Given the description of an element on the screen output the (x, y) to click on. 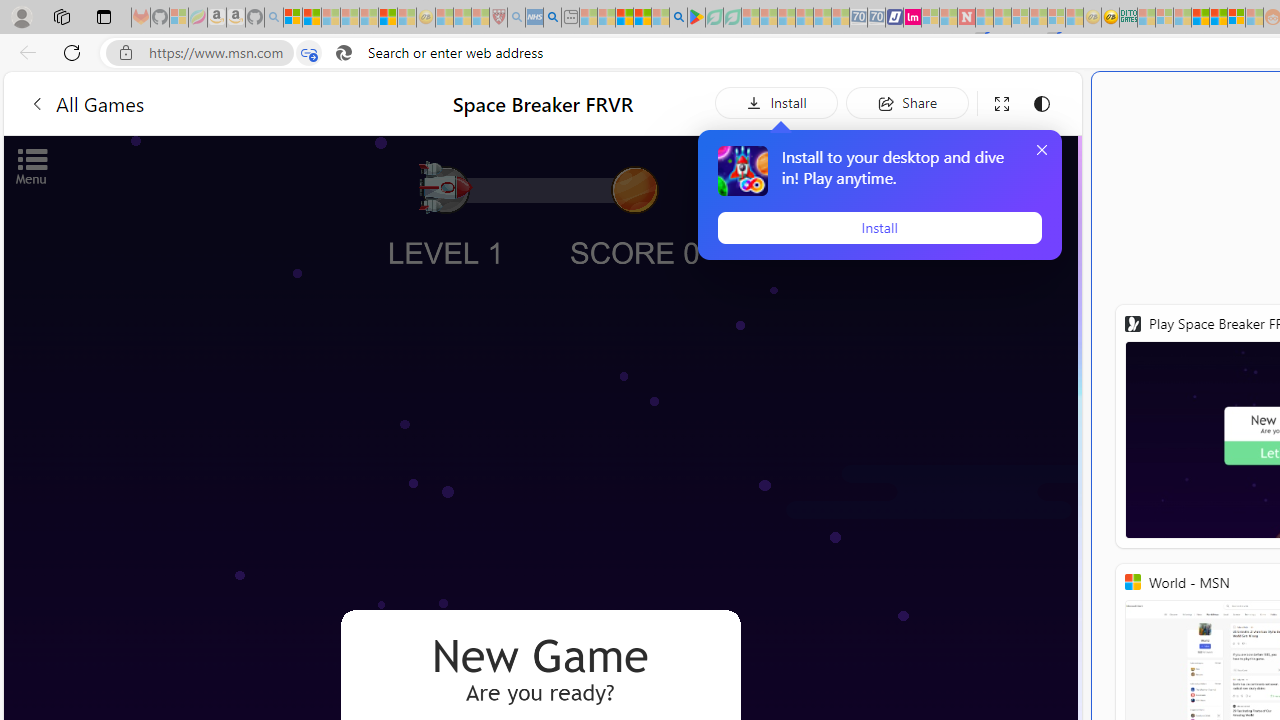
New Report Confirms 2023 Was Record Hot | Watch - Sleeping (368, 17)
All Games (86, 102)
Terms of Use Agreement - Sleeping (714, 17)
Local - MSN - Sleeping (480, 17)
MSNBC - MSN - Sleeping (1145, 17)
